Given the description of an element on the screen output the (x, y) to click on. 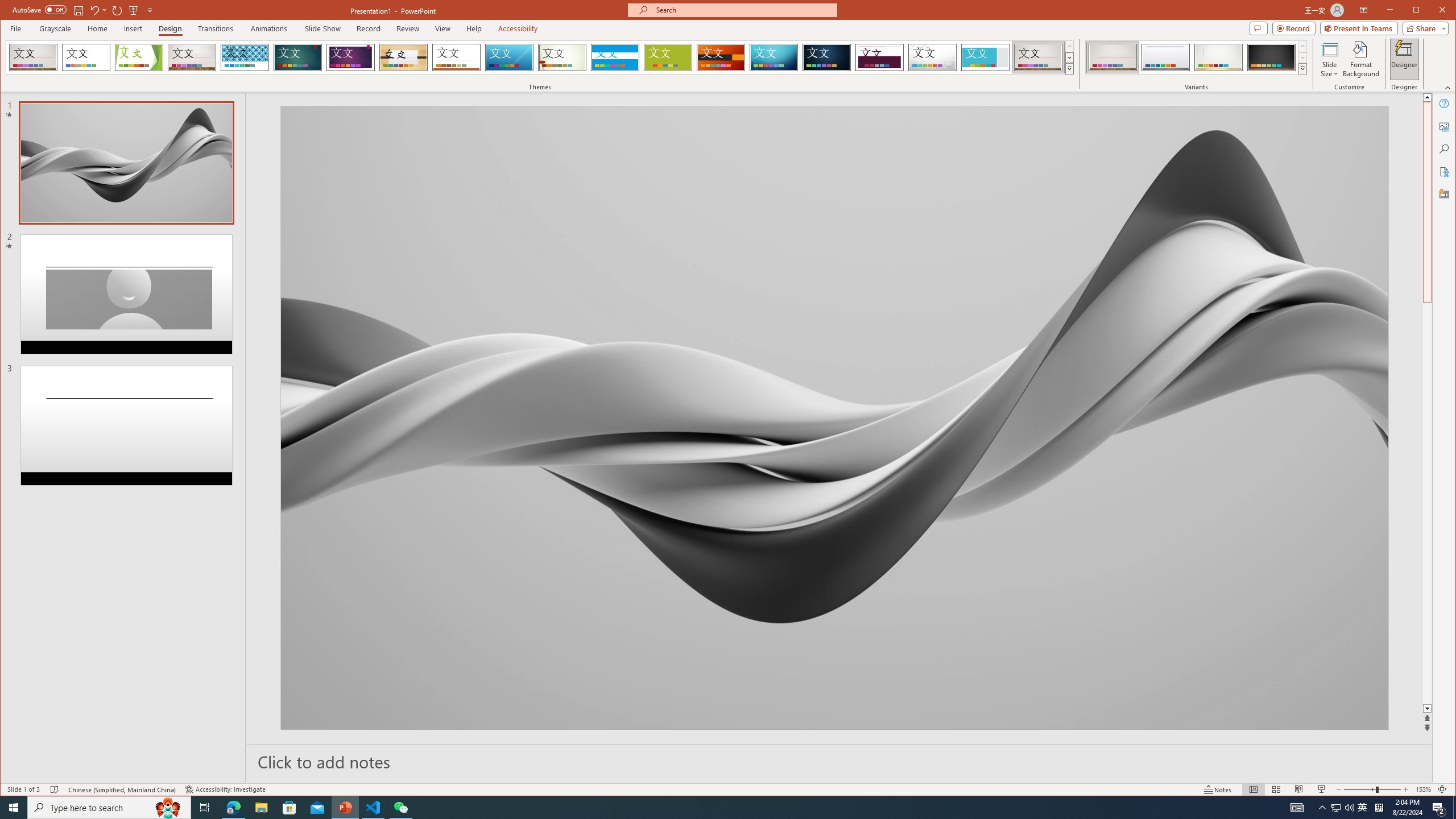
Wavy 3D art (835, 417)
Retrospect (456, 57)
AutomationID: ThemeVariantsGallery (1196, 57)
Wisp (561, 57)
Zoom 153% (1422, 789)
AutomationID: SlideThemesGallery (540, 57)
WeChat - 1 running window (400, 807)
